Given the description of an element on the screen output the (x, y) to click on. 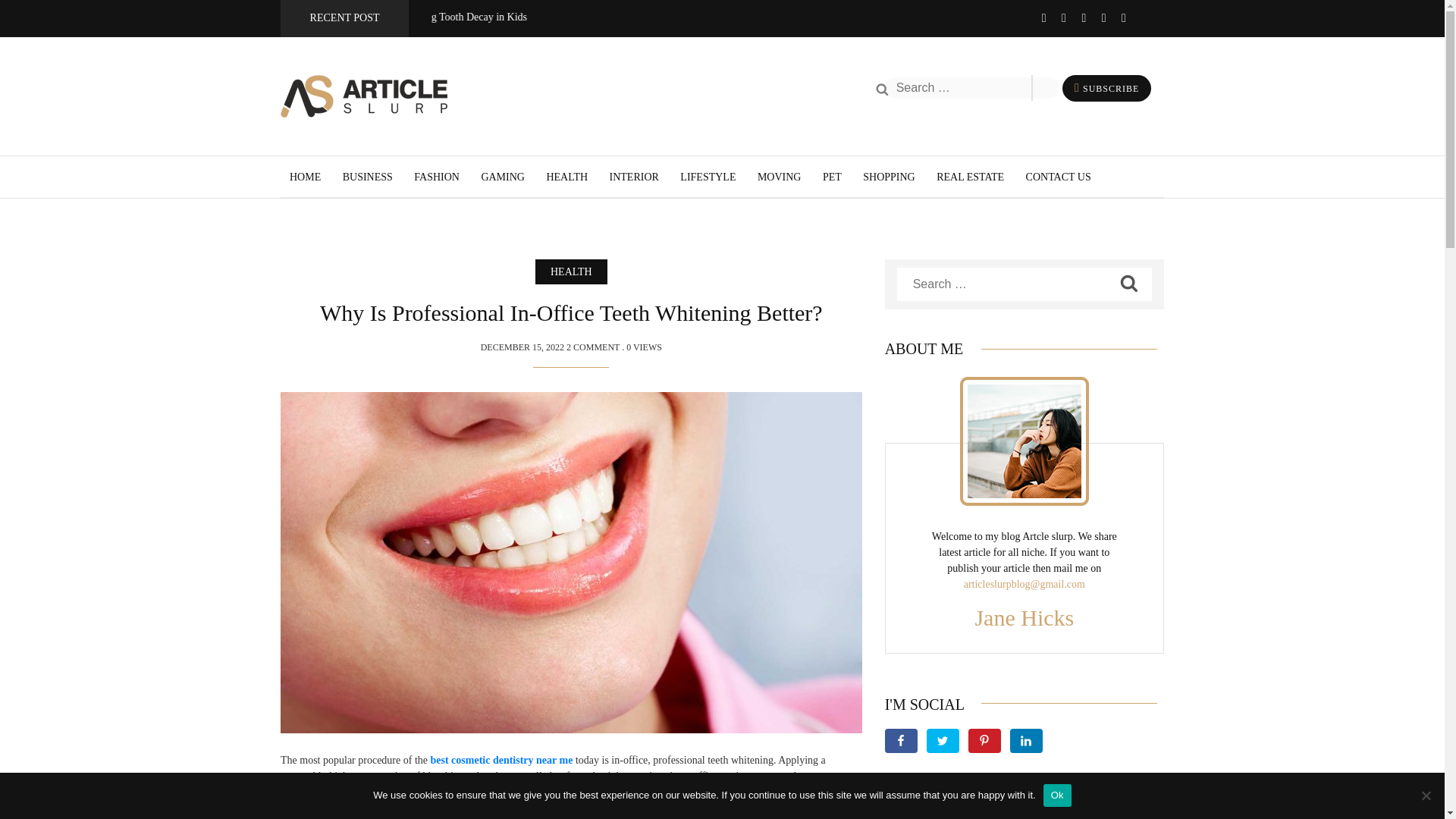
REAL ESTATE (970, 176)
Preventing and Treating Tooth Decay in Kids (313, 16)
GAMING (502, 176)
Why Does Your Child Deserve a Pediatric Dentist? (92, 16)
SHOPPING (888, 176)
BUSINESS (367, 176)
MOVING (779, 176)
SUBSCRIBE (1110, 88)
CONTACT US (1058, 176)
HEALTH (567, 176)
Share on Facebook (901, 740)
FASHION (436, 176)
LIFESTYLE (707, 176)
INTERIOR (634, 176)
Share on Pinterest (984, 740)
